Given the description of an element on the screen output the (x, y) to click on. 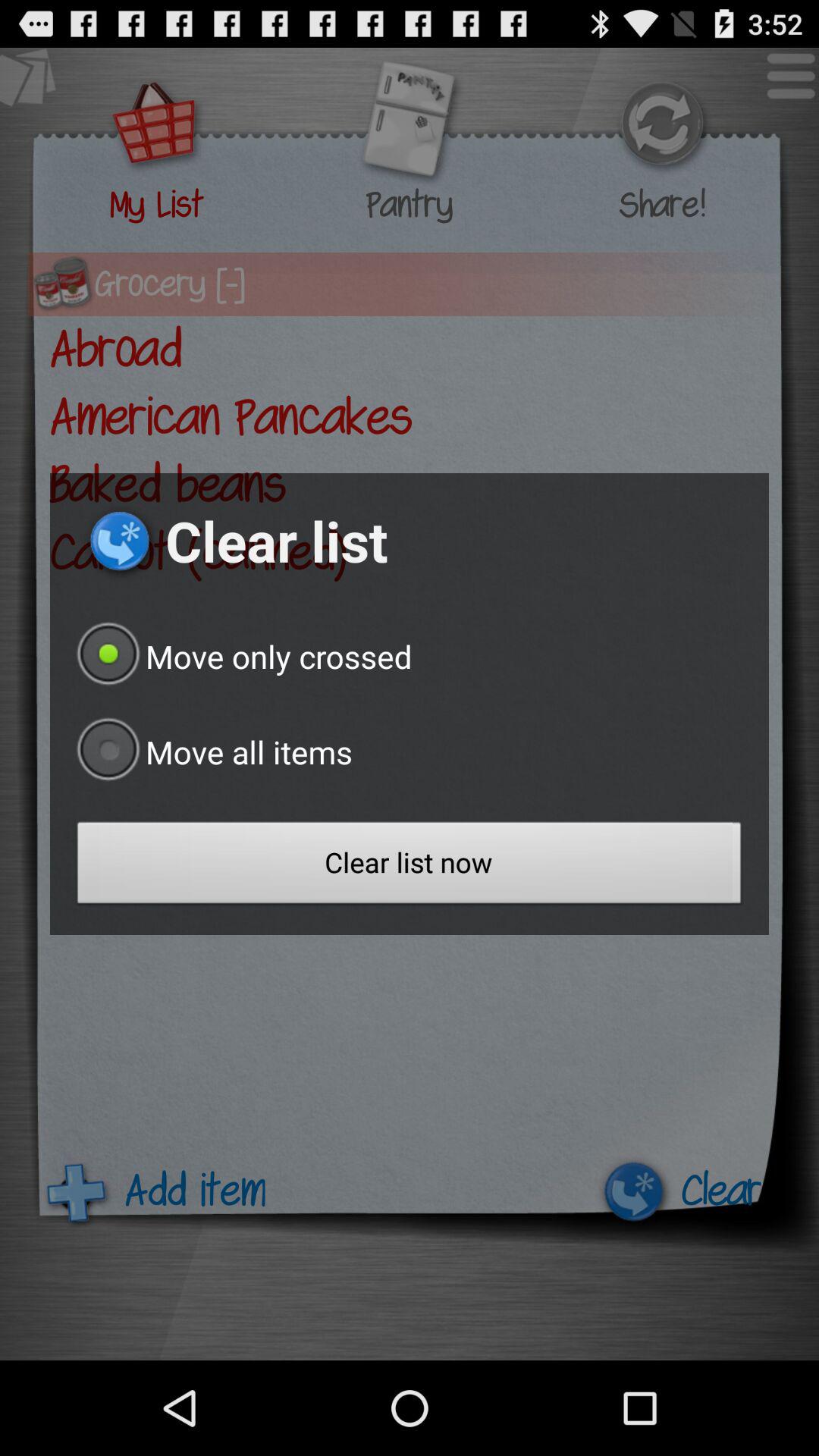
launch move only crossed icon (240, 656)
